Given the description of an element on the screen output the (x, y) to click on. 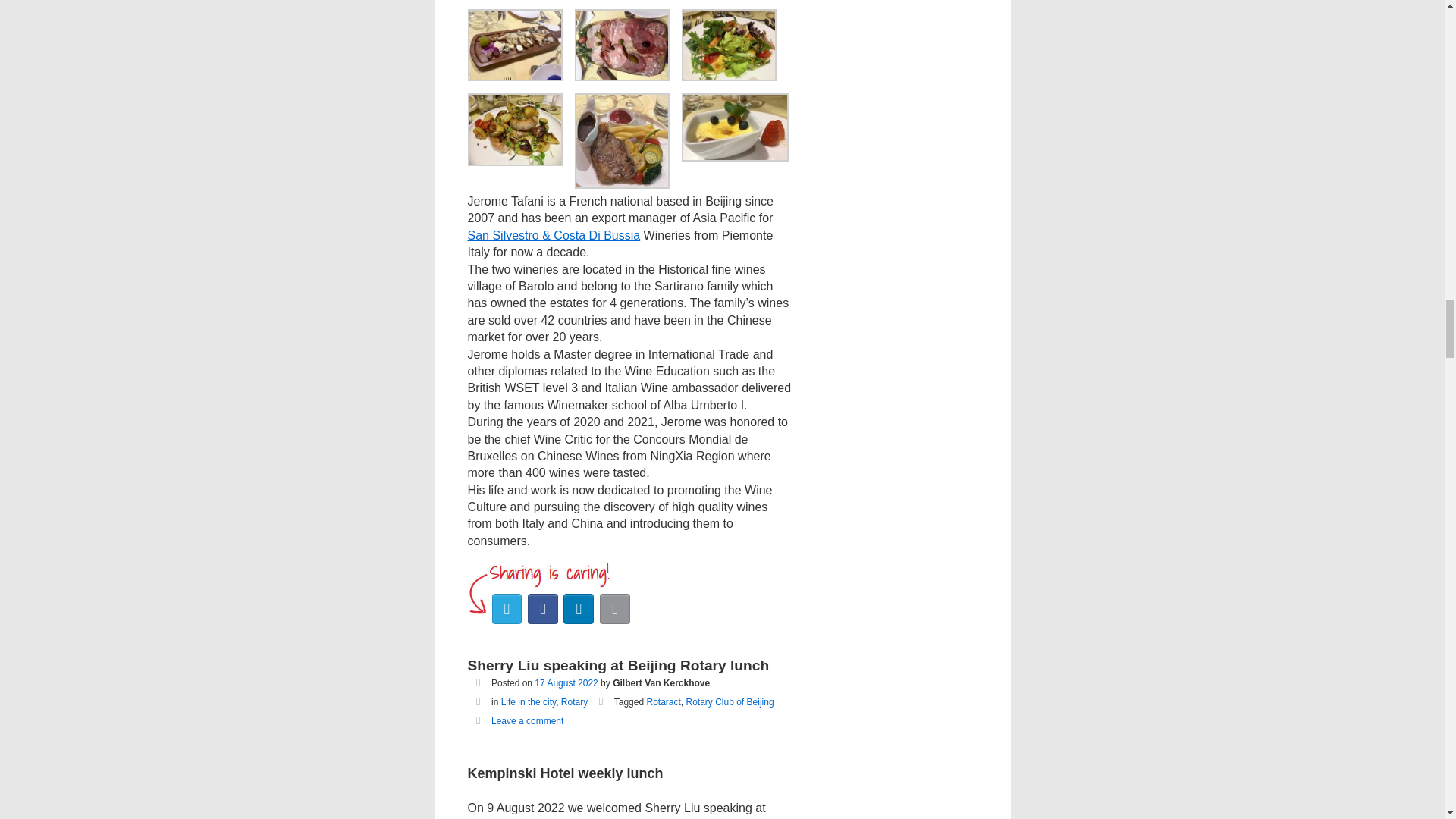
Share by email (614, 608)
Share on Facebook (542, 608)
Tweet this article (506, 608)
Share on LinkedIn (578, 608)
